Given the description of an element on the screen output the (x, y) to click on. 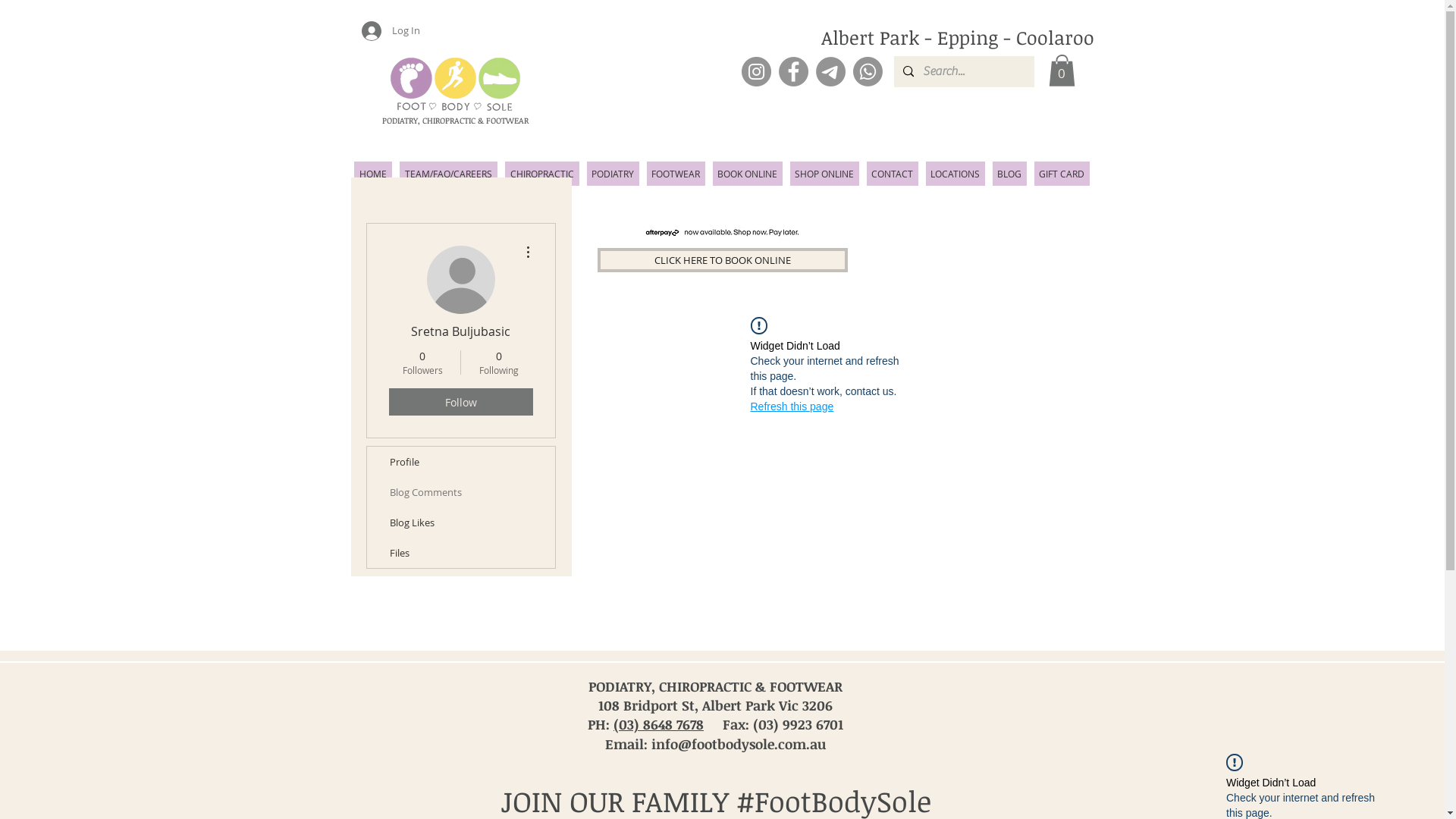
FOOTWEAR Element type: text (675, 173)
0
Following Element type: text (499, 362)
Follow Element type: text (460, 401)
0 Element type: text (1061, 70)
GIFT CARD Element type: text (1061, 173)
foot body sole logo.jpg Element type: hover (454, 83)
LOCATIONS Element type: text (954, 173)
BOOK ONLINE Element type: text (747, 173)
Log In Element type: text (363, 30)
0
Followers Element type: text (421, 362)
Profile Element type: text (461, 461)
Refresh this page Element type: text (792, 406)
CONTACT Element type: text (891, 173)
Blog Comments Element type: text (461, 491)
PODIATRY Element type: text (612, 173)
TEAM/FAQ/CAREERS Element type: text (447, 173)
CHIROPRACTIC Element type: text (542, 173)
Blog Likes Element type: text (461, 522)
BLOG Element type: text (1008, 173)
CLICK HERE TO BOOK ONLINE Element type: text (722, 259)
SHOP ONLINE Element type: text (824, 173)
(03) 8648 7678 Element type: text (658, 724)
HOME Element type: text (372, 173)
Files Element type: text (461, 552)
info@footbodysole.com.au Element type: text (737, 743)
